Given the description of an element on the screen output the (x, y) to click on. 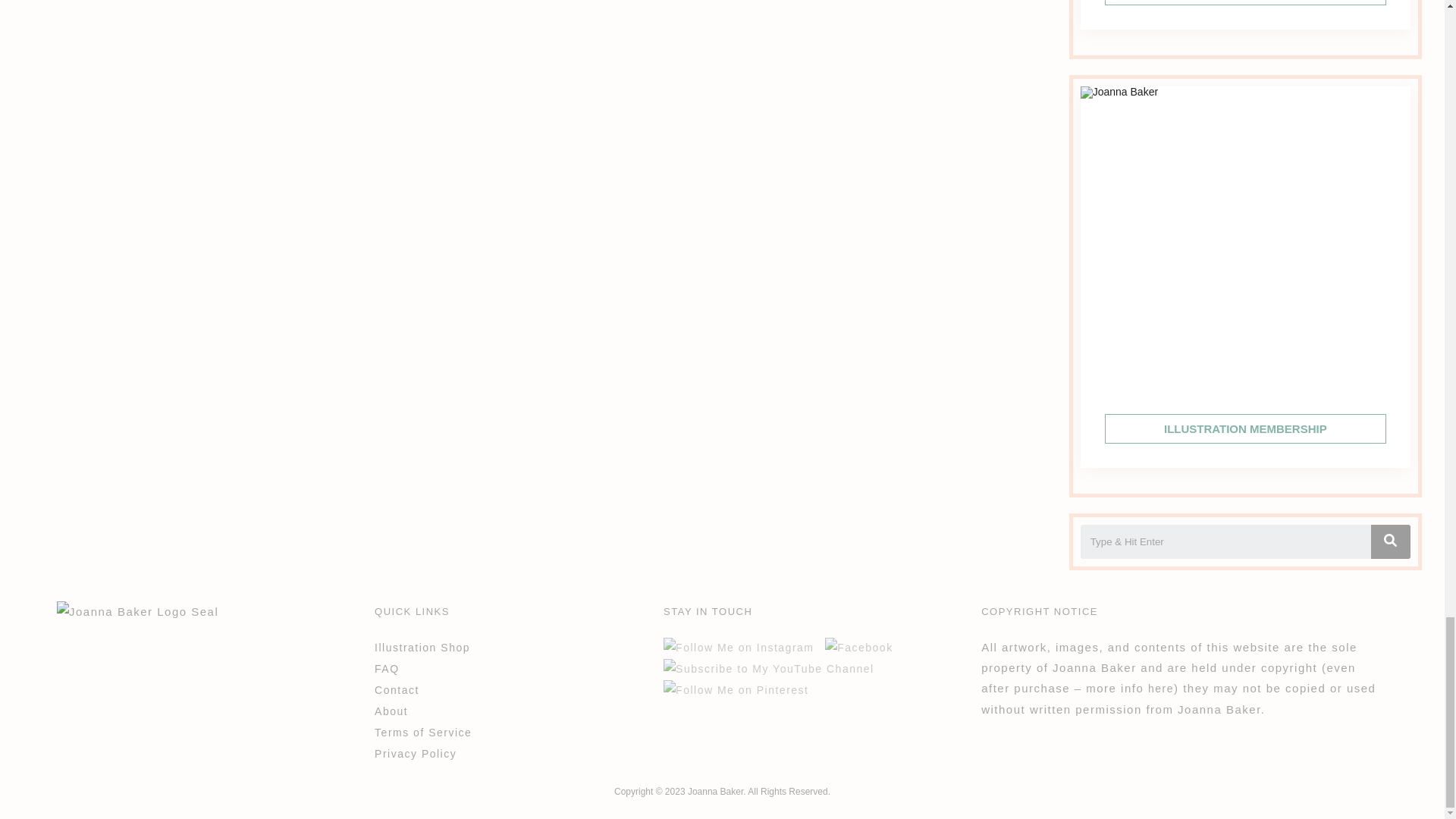
Terms of Service (1160, 688)
Search (1225, 541)
Semantic Personal Publishing Platform (721, 791)
